Given the description of an element on the screen output the (x, y) to click on. 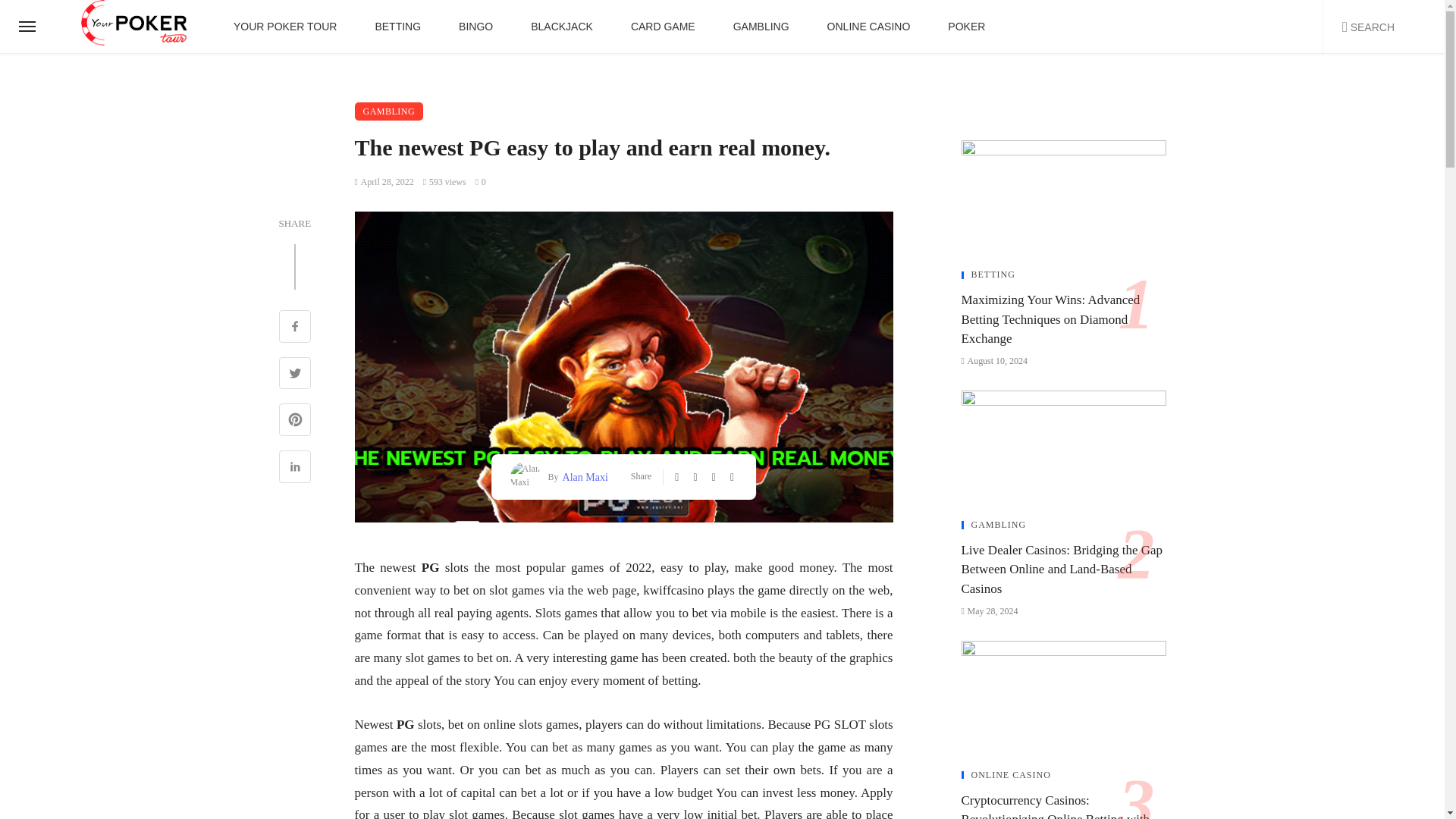
GAMBLING (389, 111)
GAMBLING (761, 26)
Posts by Alan Maxi (583, 476)
Share on Linkedin (295, 468)
CARD GAME (662, 26)
0 Comments (481, 181)
ONLINE CASINO (869, 26)
BINGO (475, 26)
Alan Maxi (583, 476)
BLACKJACK (561, 26)
